Given the description of an element on the screen output the (x, y) to click on. 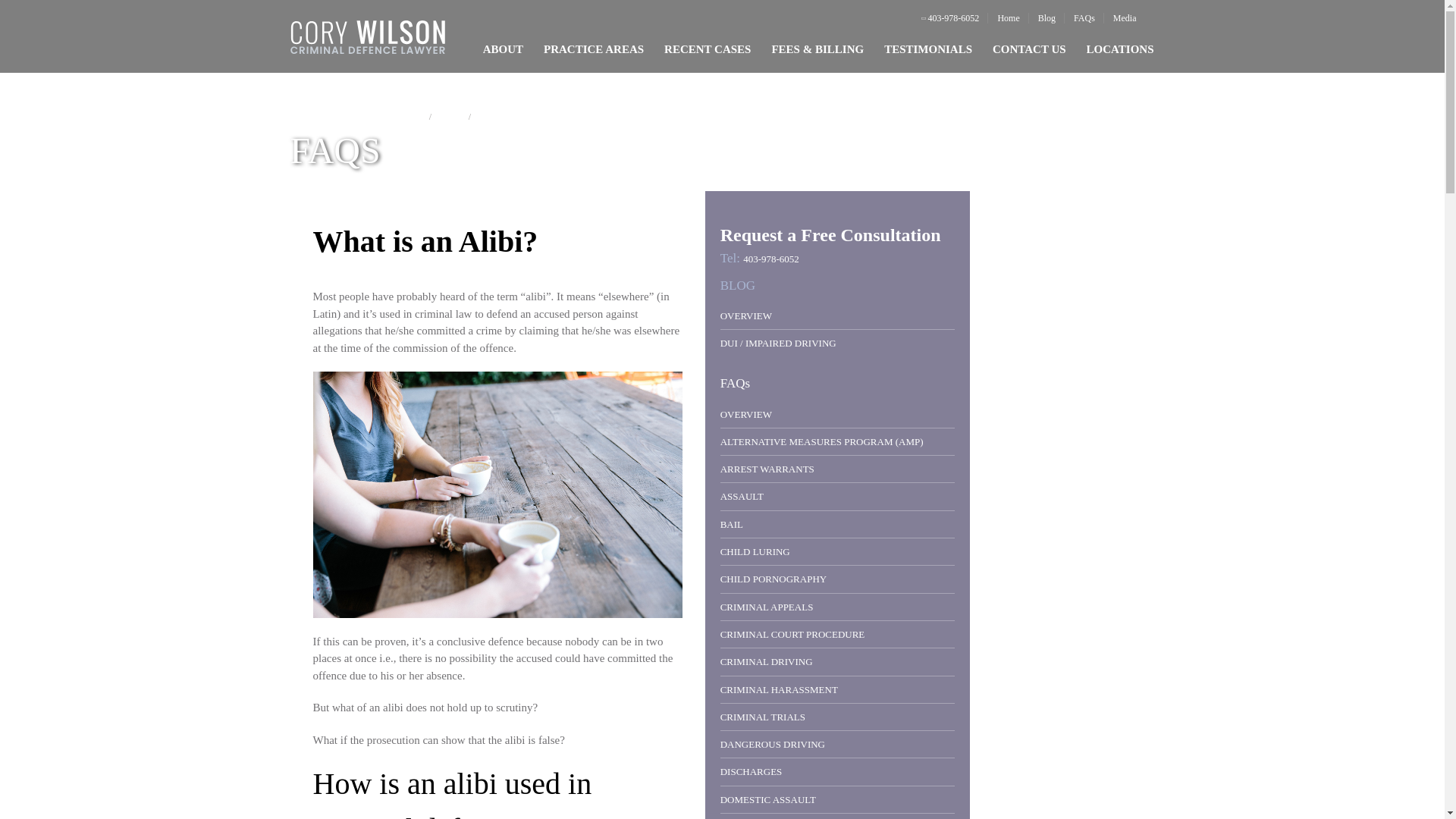
FAQs (1083, 18)
Media (1124, 18)
Home (1007, 18)
PRACTICE AREAS (593, 49)
403-978-6052 (950, 18)
Blog (1046, 18)
ABOUT (502, 49)
